Given the description of an element on the screen output the (x, y) to click on. 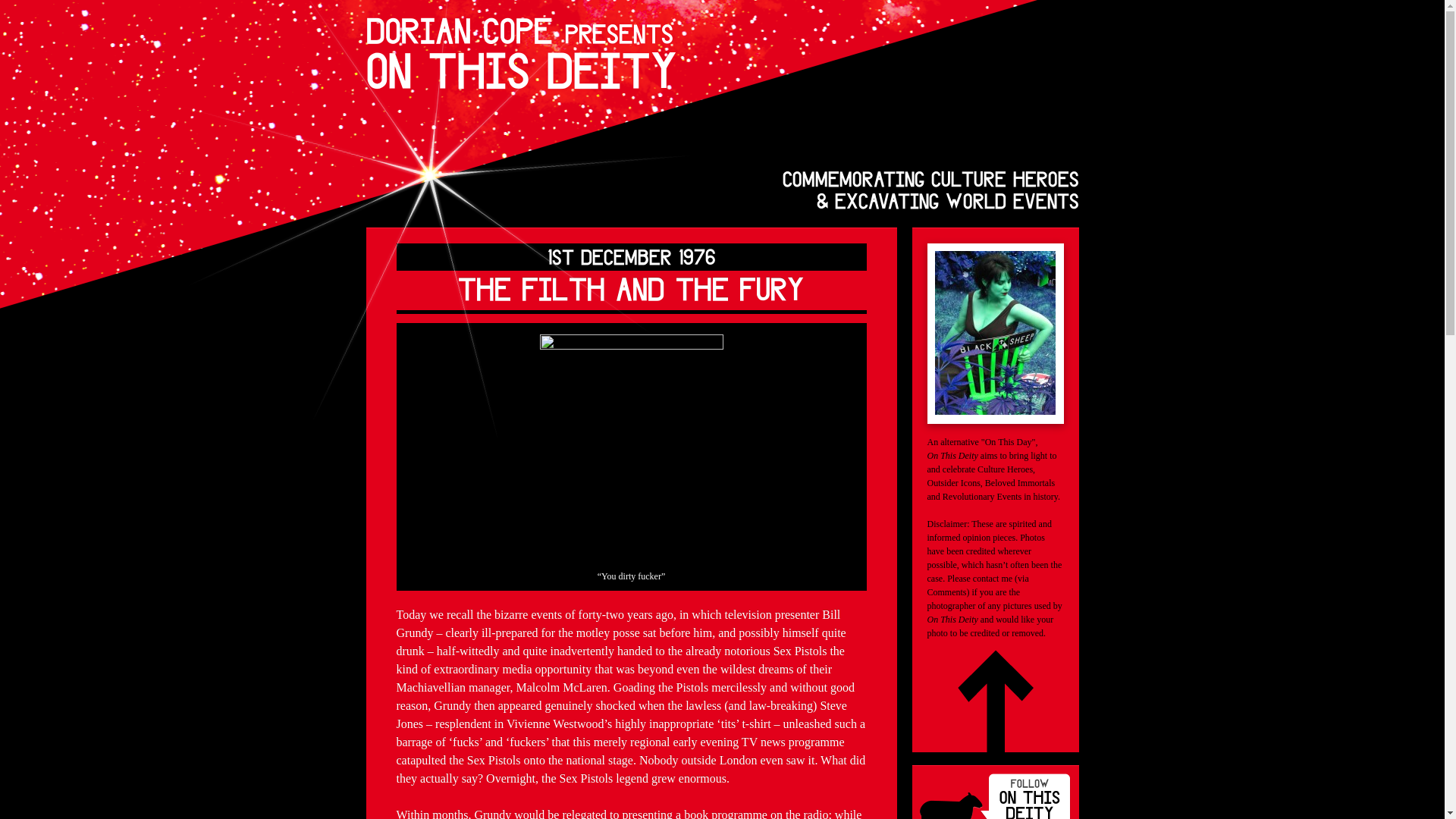
Dorian Cope presents On This Deity (521, 53)
